Given the description of an element on the screen output the (x, y) to click on. 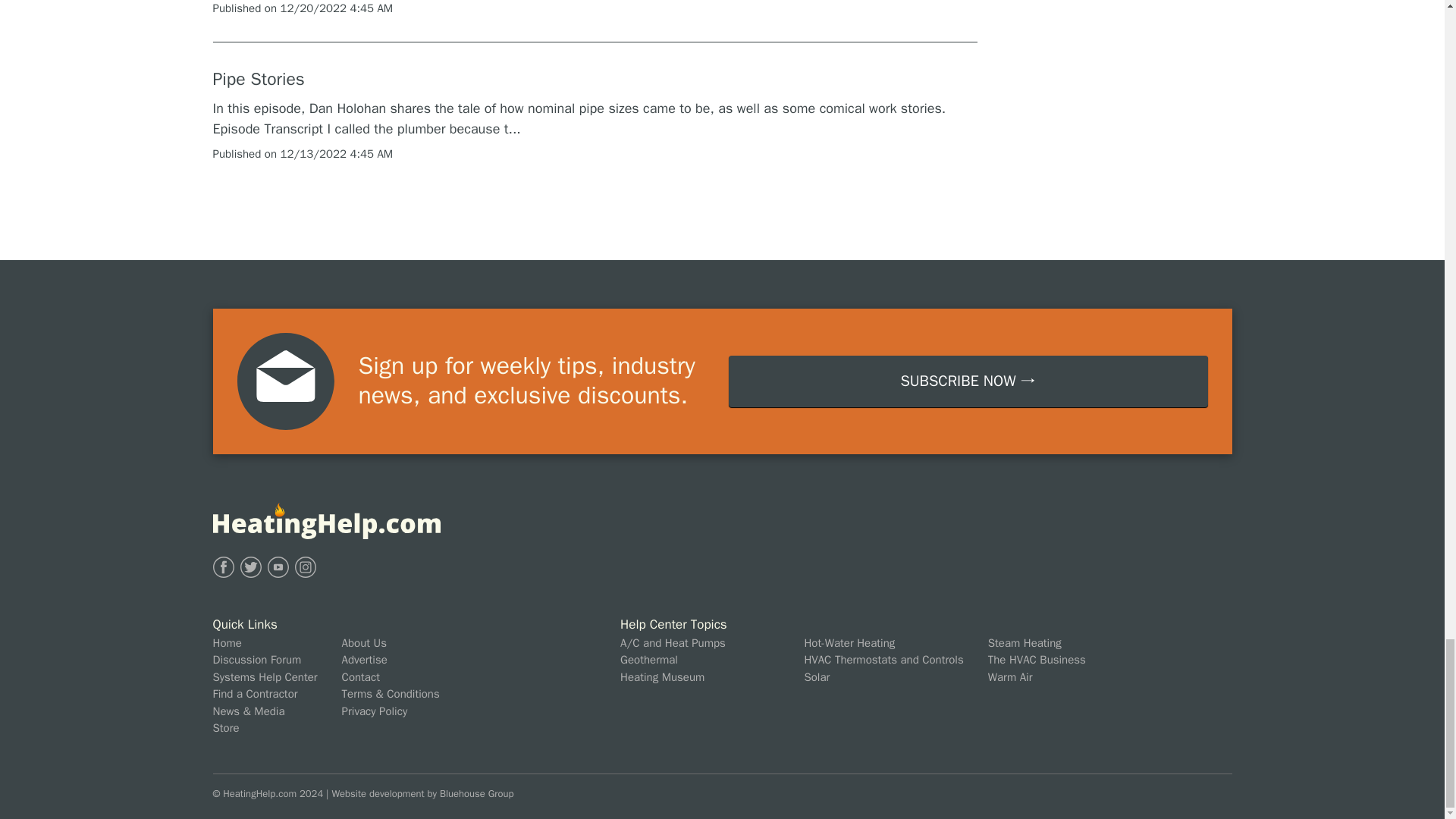
Read more about Pipe Stories (258, 79)
